Given the description of an element on the screen output the (x, y) to click on. 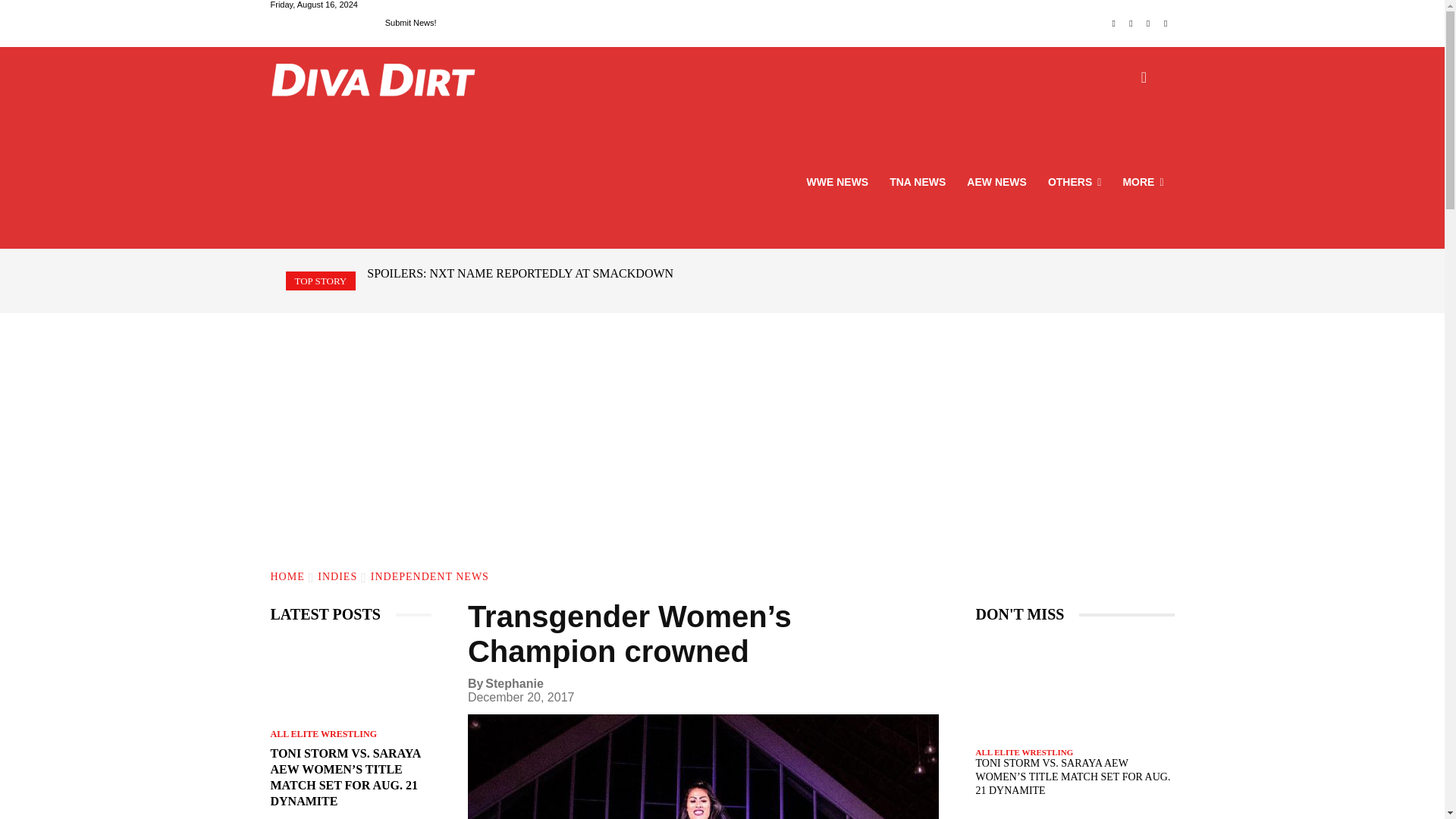
View all posts in Indies (336, 576)
Youtube (1165, 23)
Spoilers: NXT Name Reportedly At SmackDown (519, 273)
Twitter (1148, 23)
View all posts in Independent News (430, 576)
Facebook (1113, 23)
Instagram (1131, 23)
